Given the description of an element on the screen output the (x, y) to click on. 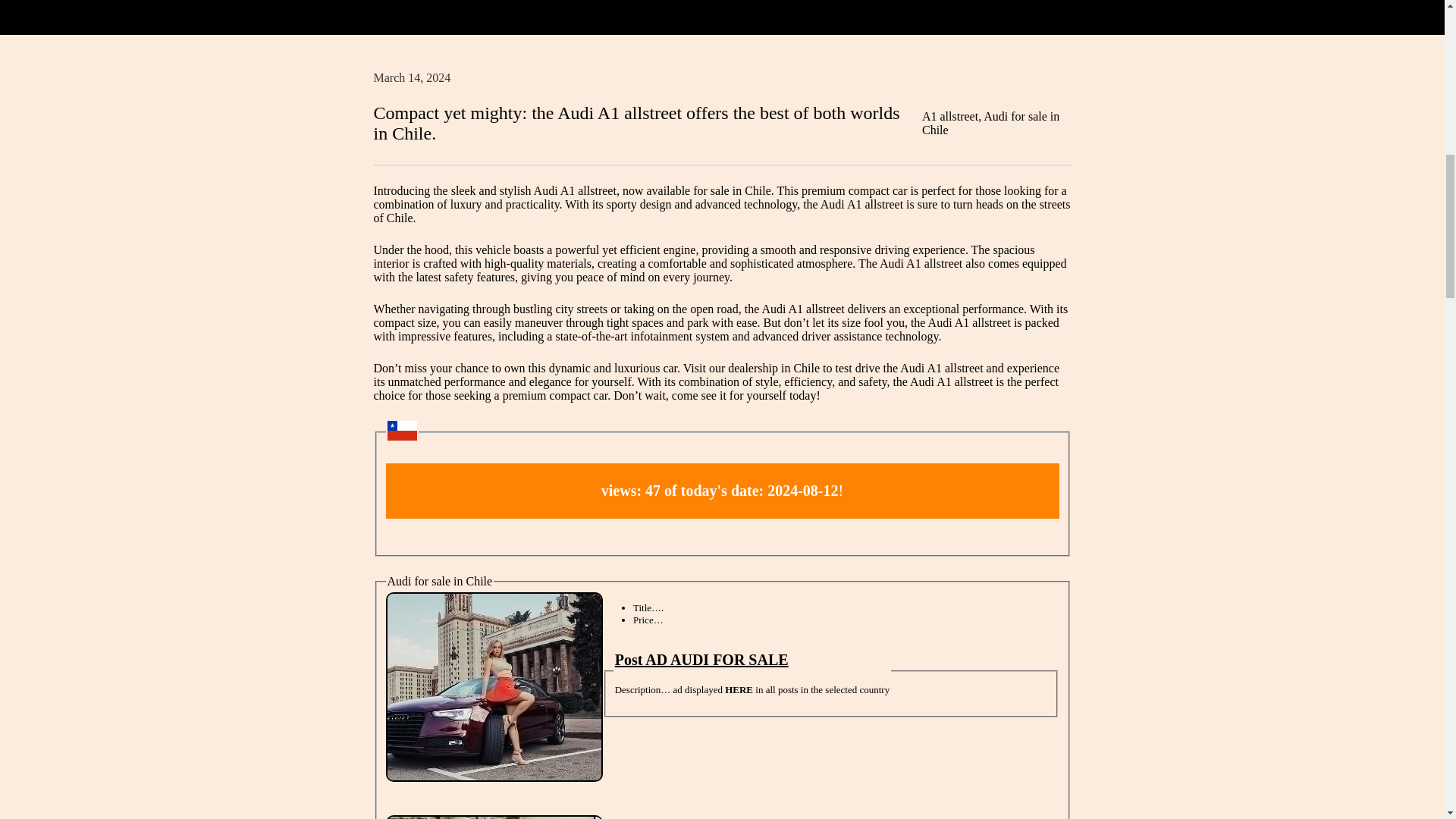
A1 allstreet (949, 115)
Post AD AUDI FOR SALE (701, 659)
Audi for sale in Chile (990, 122)
